Given the description of an element on the screen output the (x, y) to click on. 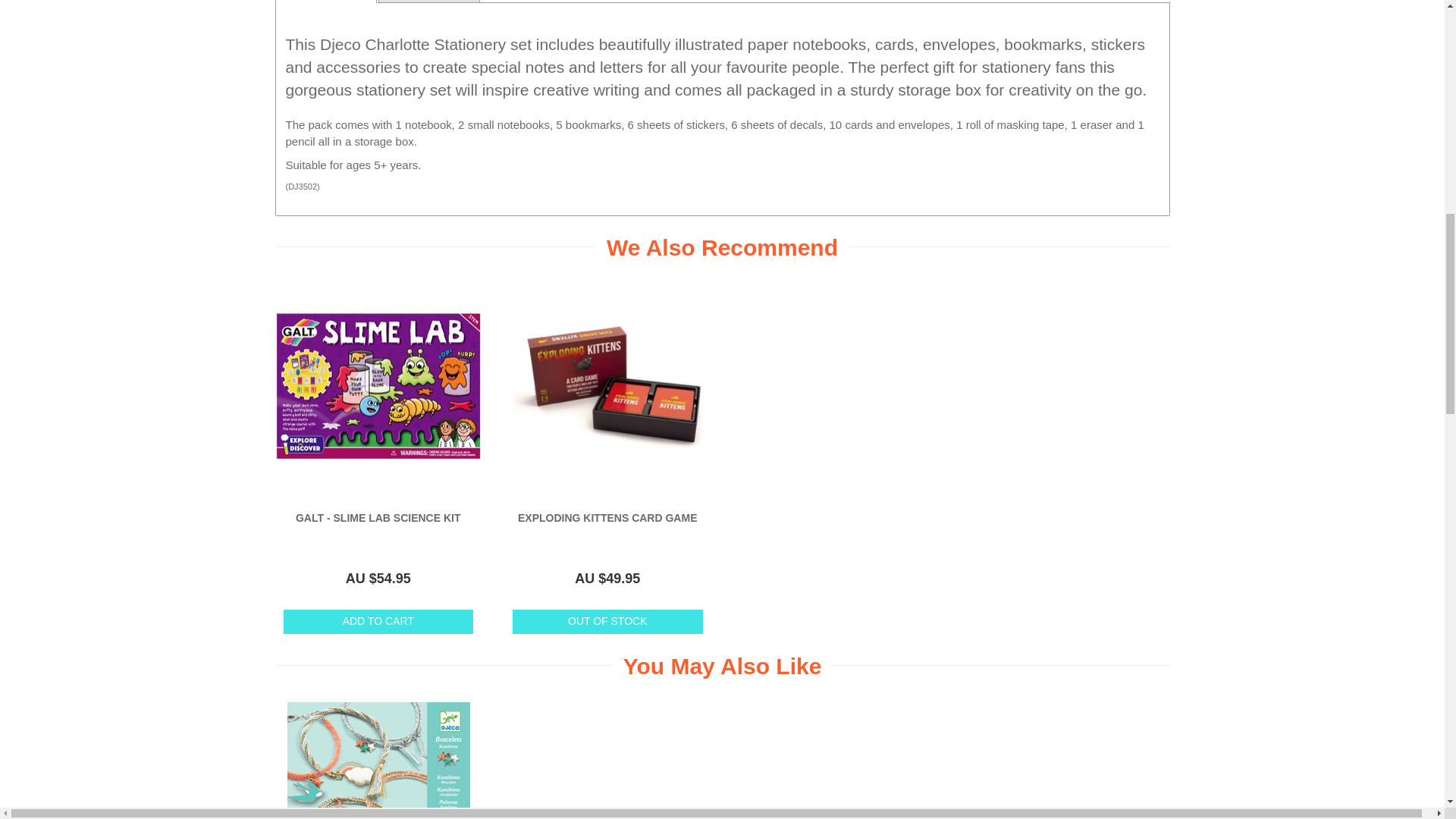
Galt - Slime Lab Science Kit (378, 517)
Add to Cart (378, 621)
